Given the description of an element on the screen output the (x, y) to click on. 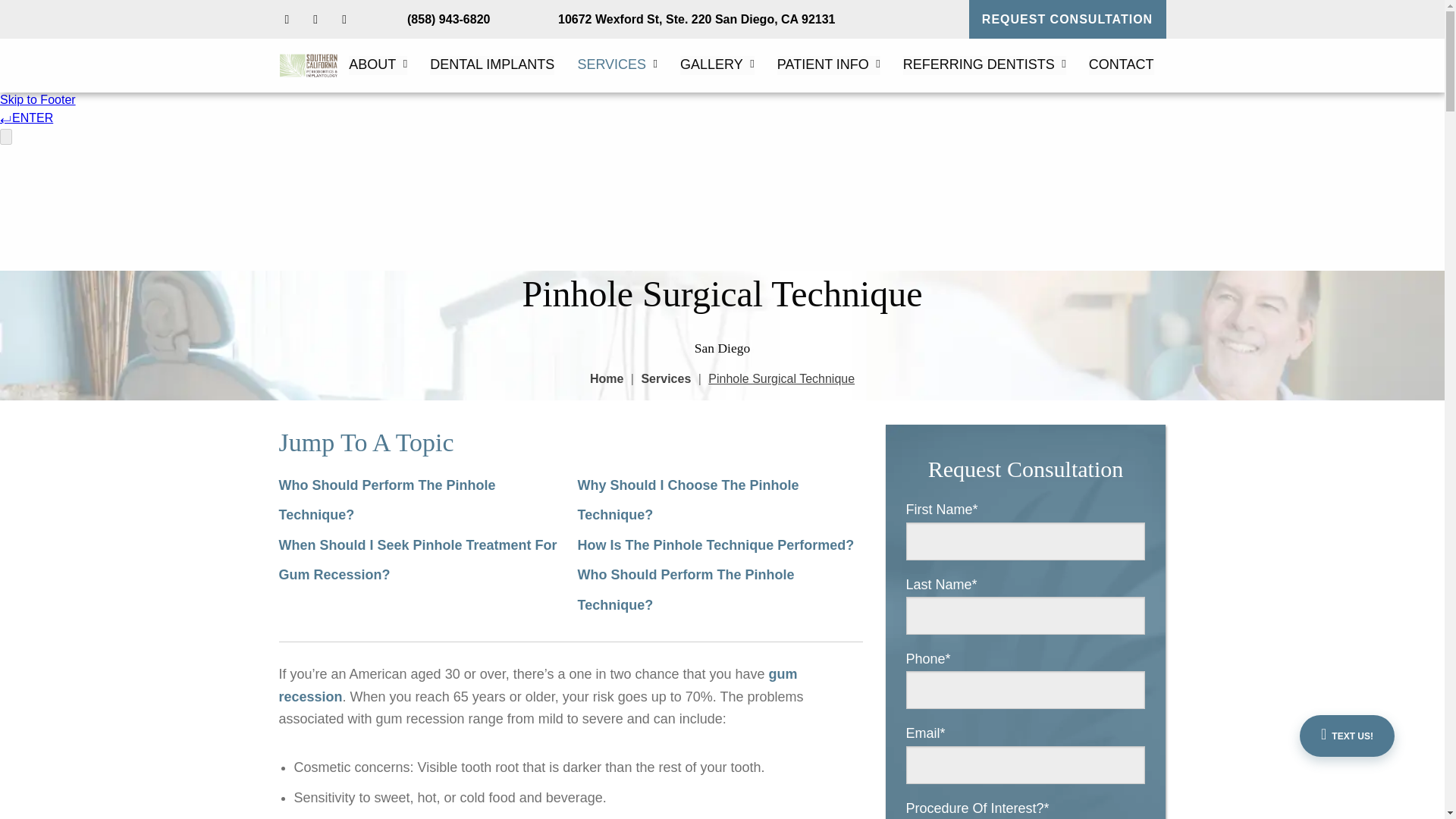
Home (606, 378)
Pinhole Surgical Technique (780, 378)
Services (665, 378)
